Given the description of an element on the screen output the (x, y) to click on. 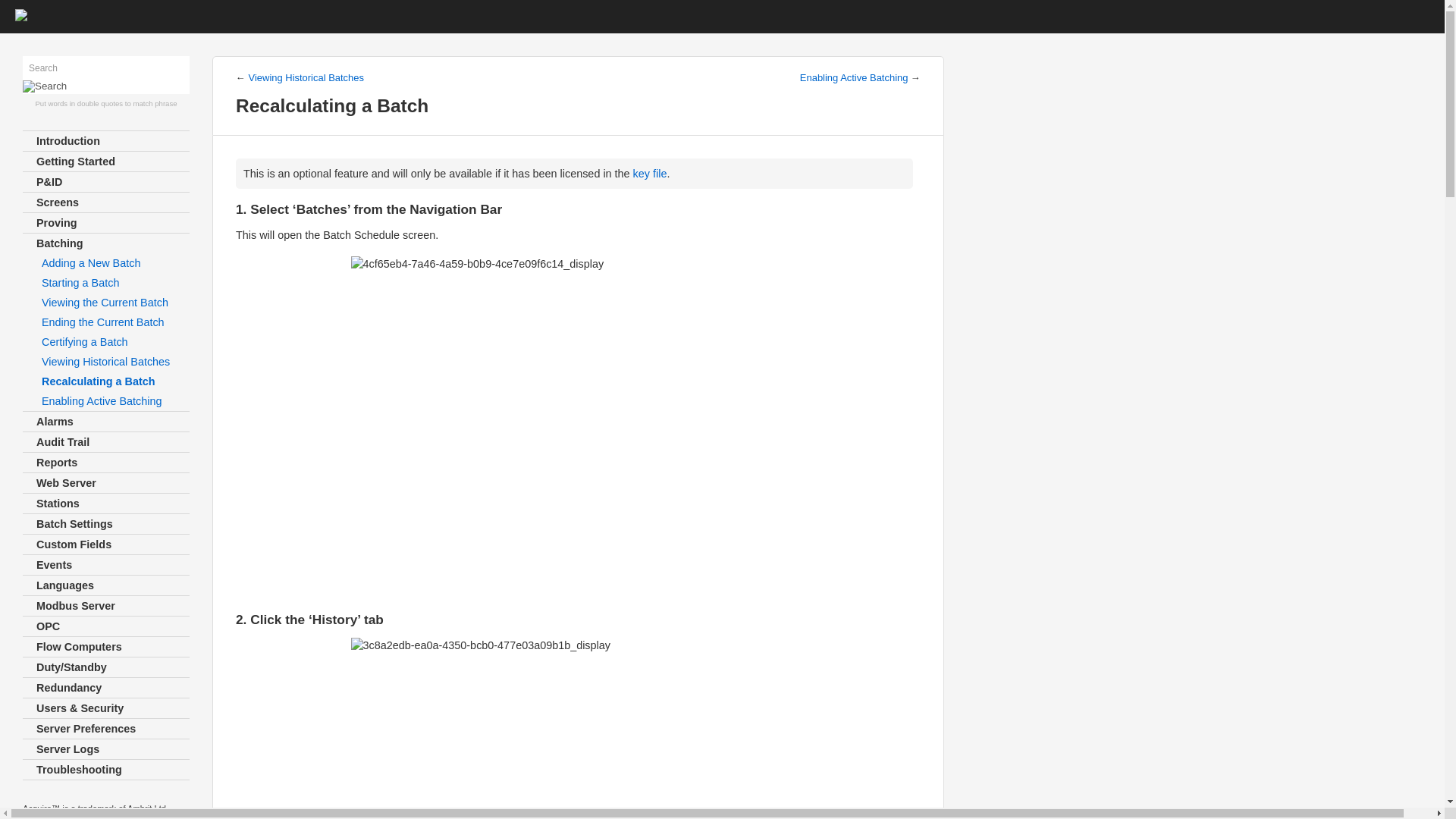
Adding a New Batch (106, 262)
Starting a Batch (106, 282)
Search (89, 68)
Screens (106, 202)
Batching (106, 243)
Search (89, 68)
Acquire HMI User Manual (20, 16)
Search (44, 86)
Getting Started (106, 161)
Viewing the Current Batch (106, 302)
Introduction (106, 140)
Proving (106, 222)
